Given the description of an element on the screen output the (x, y) to click on. 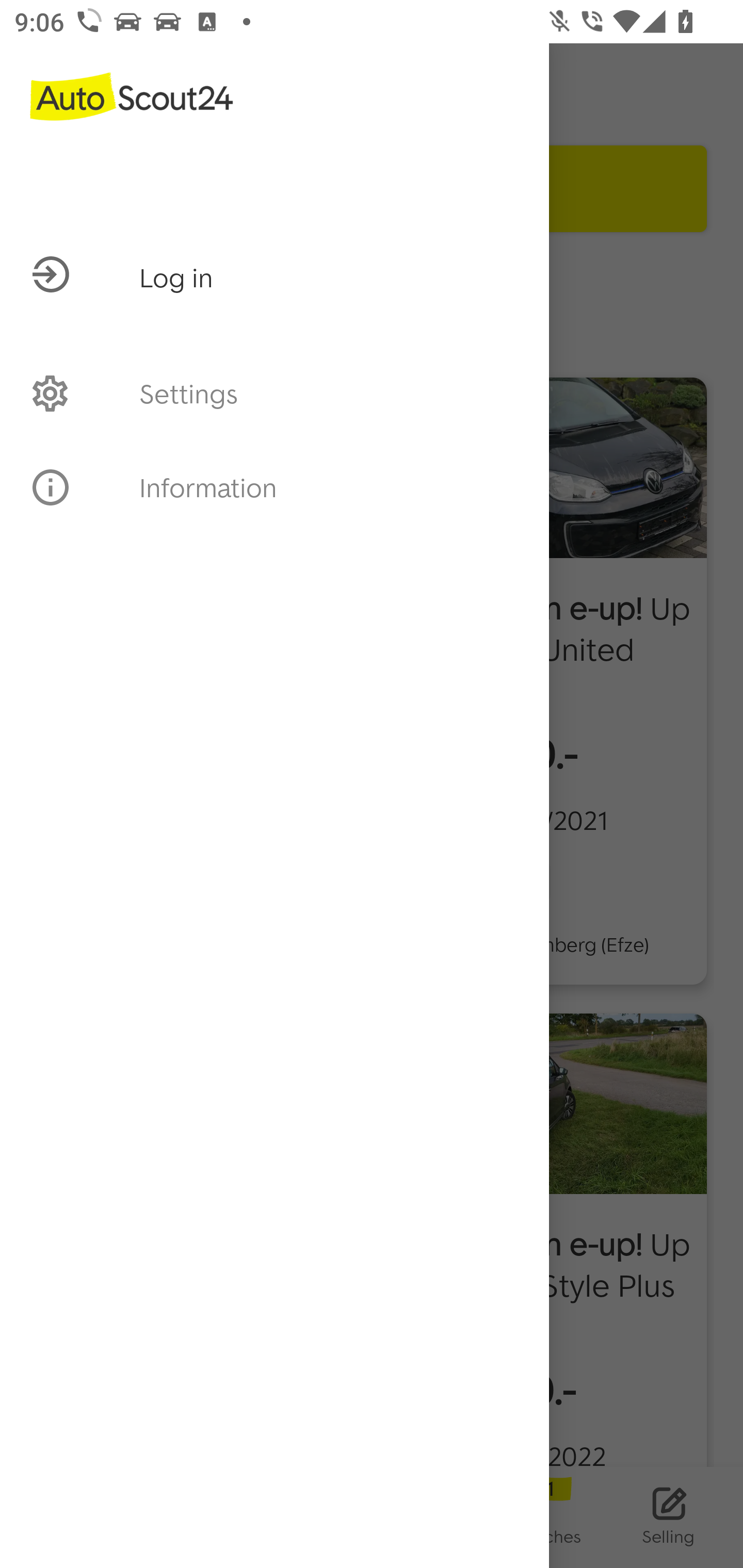
PROFILE Settings (274, 393)
INFO Information (274, 487)
